Given the description of an element on the screen output the (x, y) to click on. 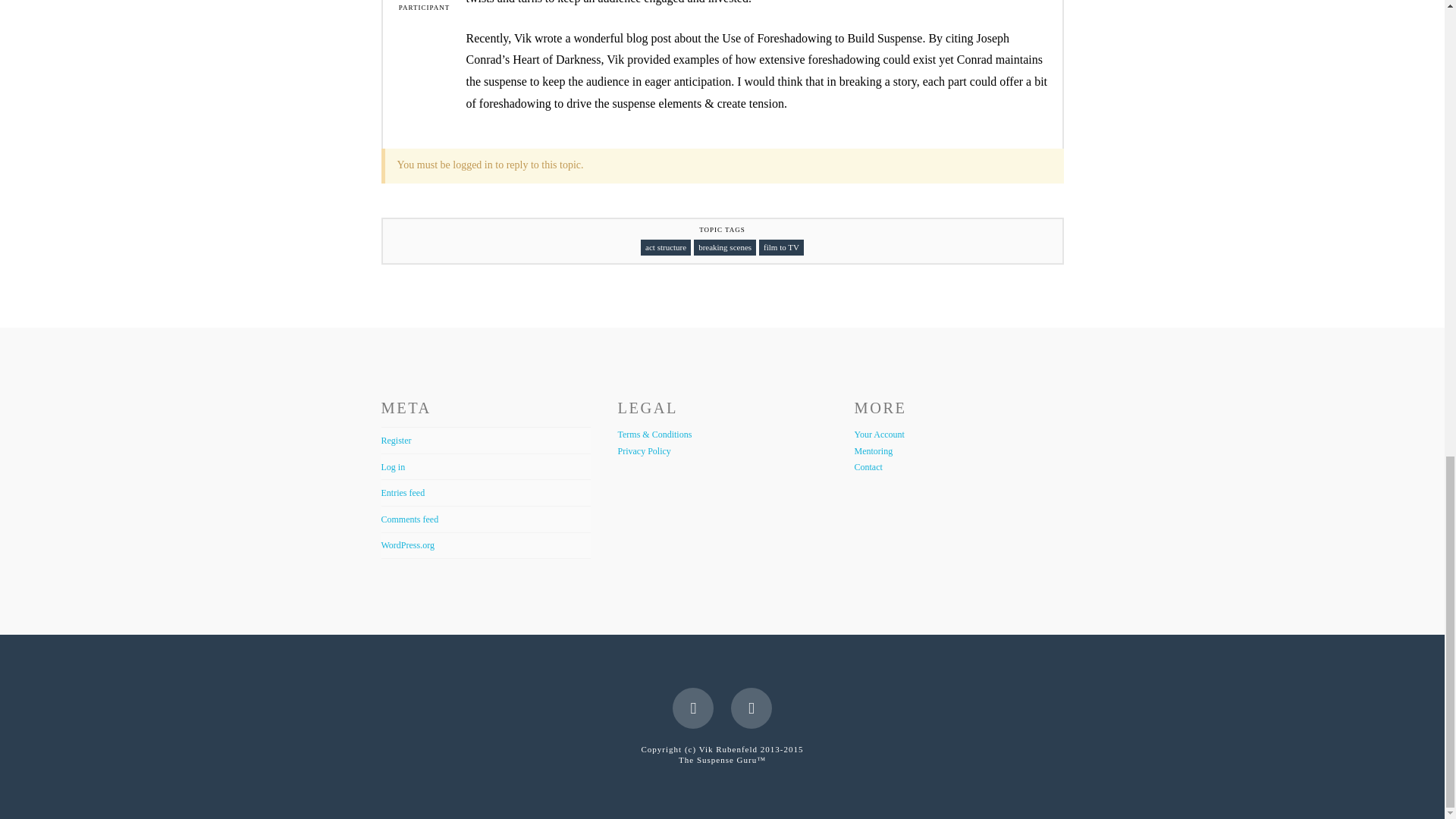
Twitter (750, 707)
Facebook (692, 707)
View Tracy Diane Miller's profile (424, 0)
